Given the description of an element on the screen output the (x, y) to click on. 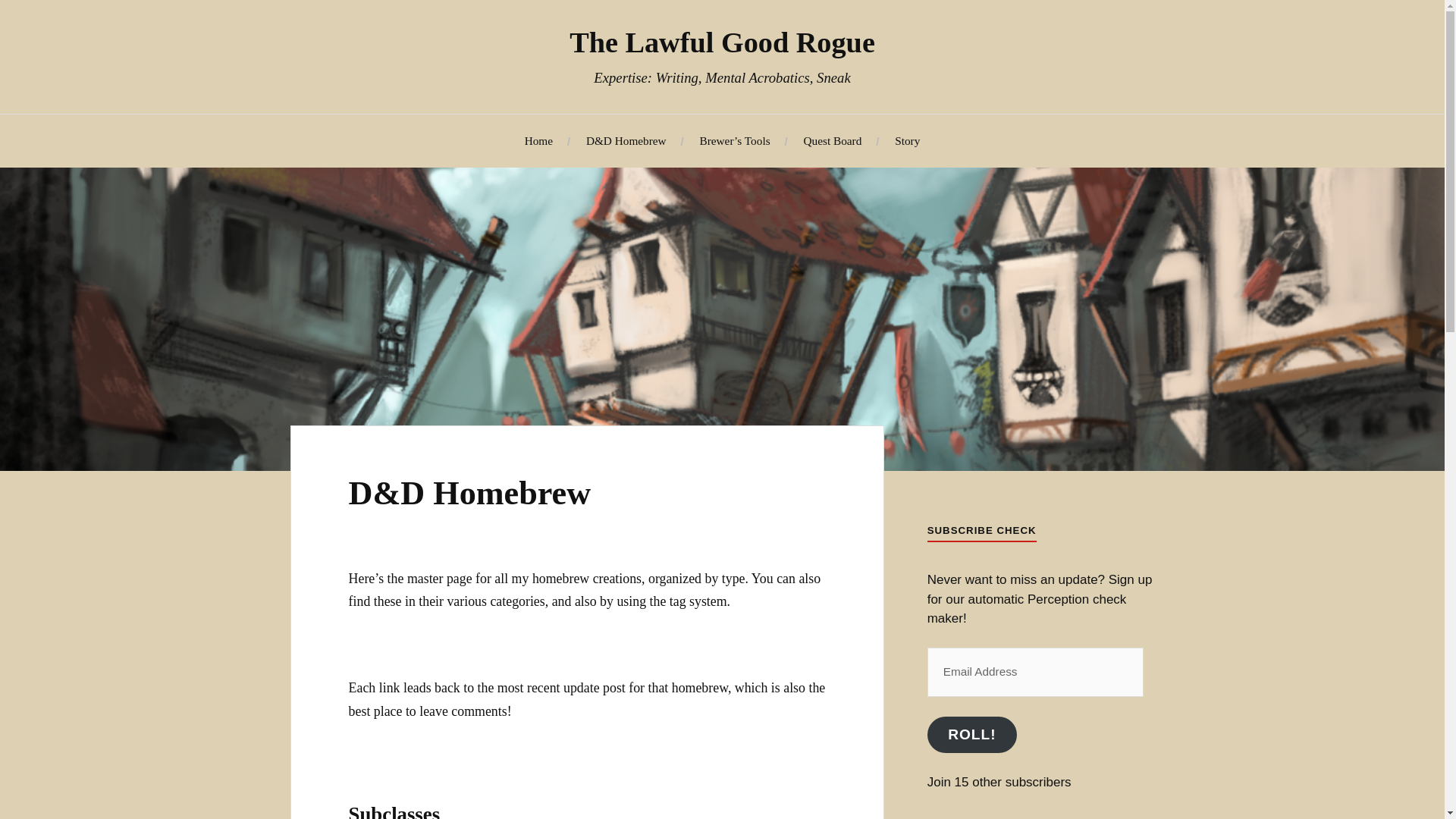
ROLL! (971, 734)
Quest Board (832, 140)
The Lawful Good Rogue (722, 42)
